Given the description of an element on the screen output the (x, y) to click on. 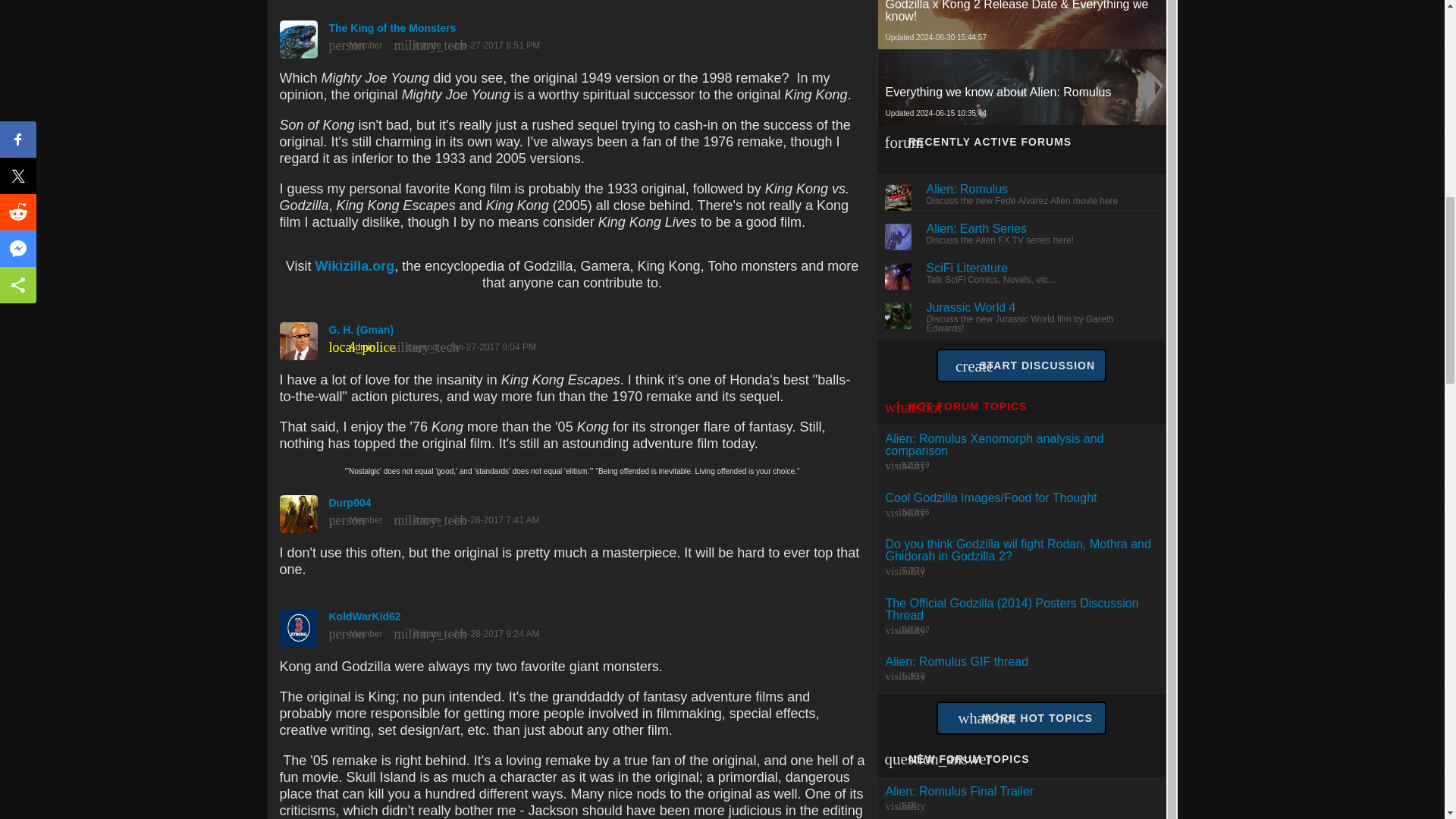
Durp004 (571, 510)
Everything we know about Alien: Romulus (1022, 92)
Wikizilla.org (354, 265)
Alien: Romulus (967, 188)
KoldWarKid62 (571, 624)
Alien: Earth Series (976, 228)
SciFi Literature (967, 267)
Jurassic World 4 (971, 307)
The King of the Monsters (571, 35)
